Given the description of an element on the screen output the (x, y) to click on. 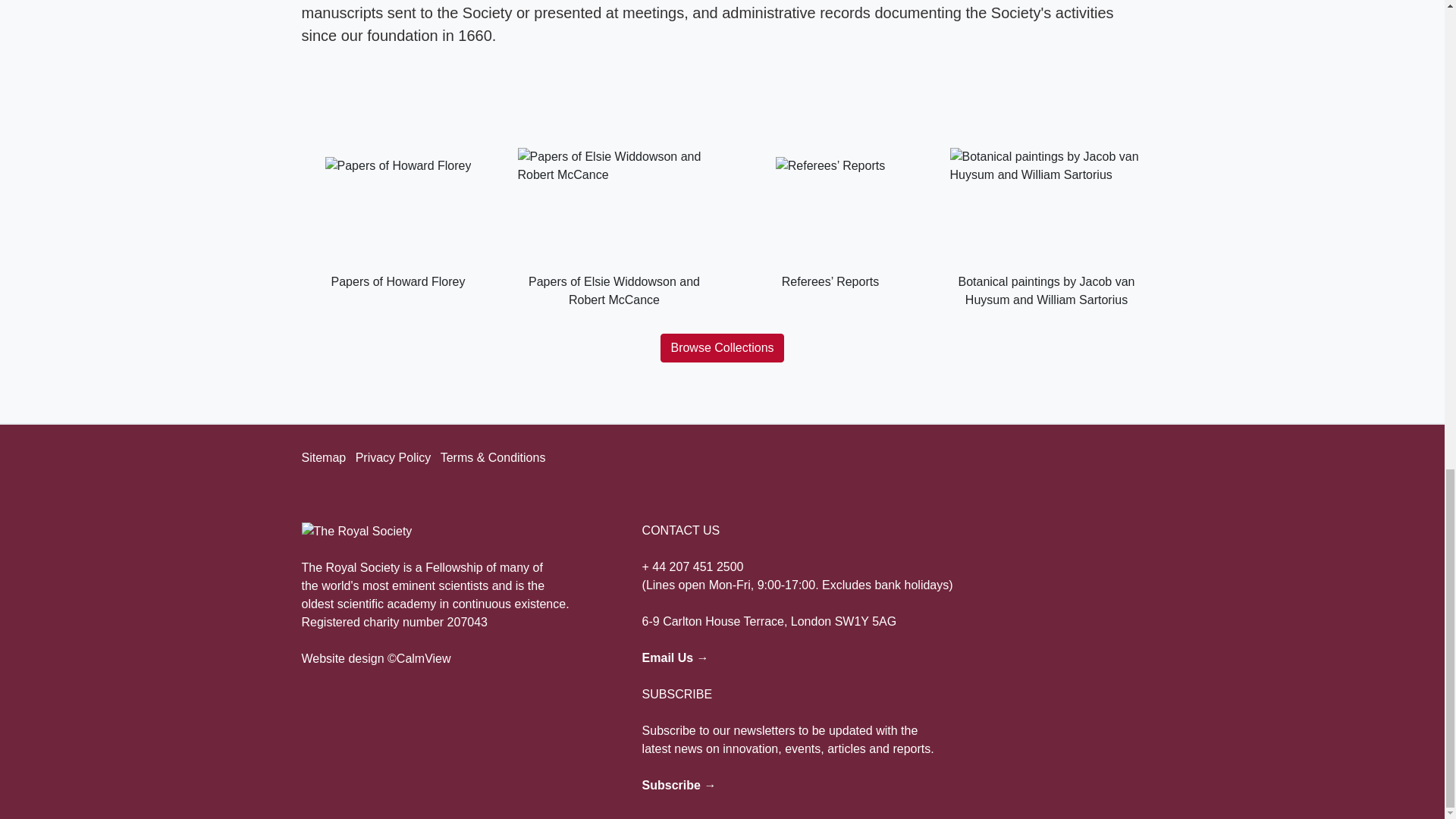
Browse Collections (722, 347)
Privacy Policy (392, 457)
Sitemap (323, 457)
